Given the description of an element on the screen output the (x, y) to click on. 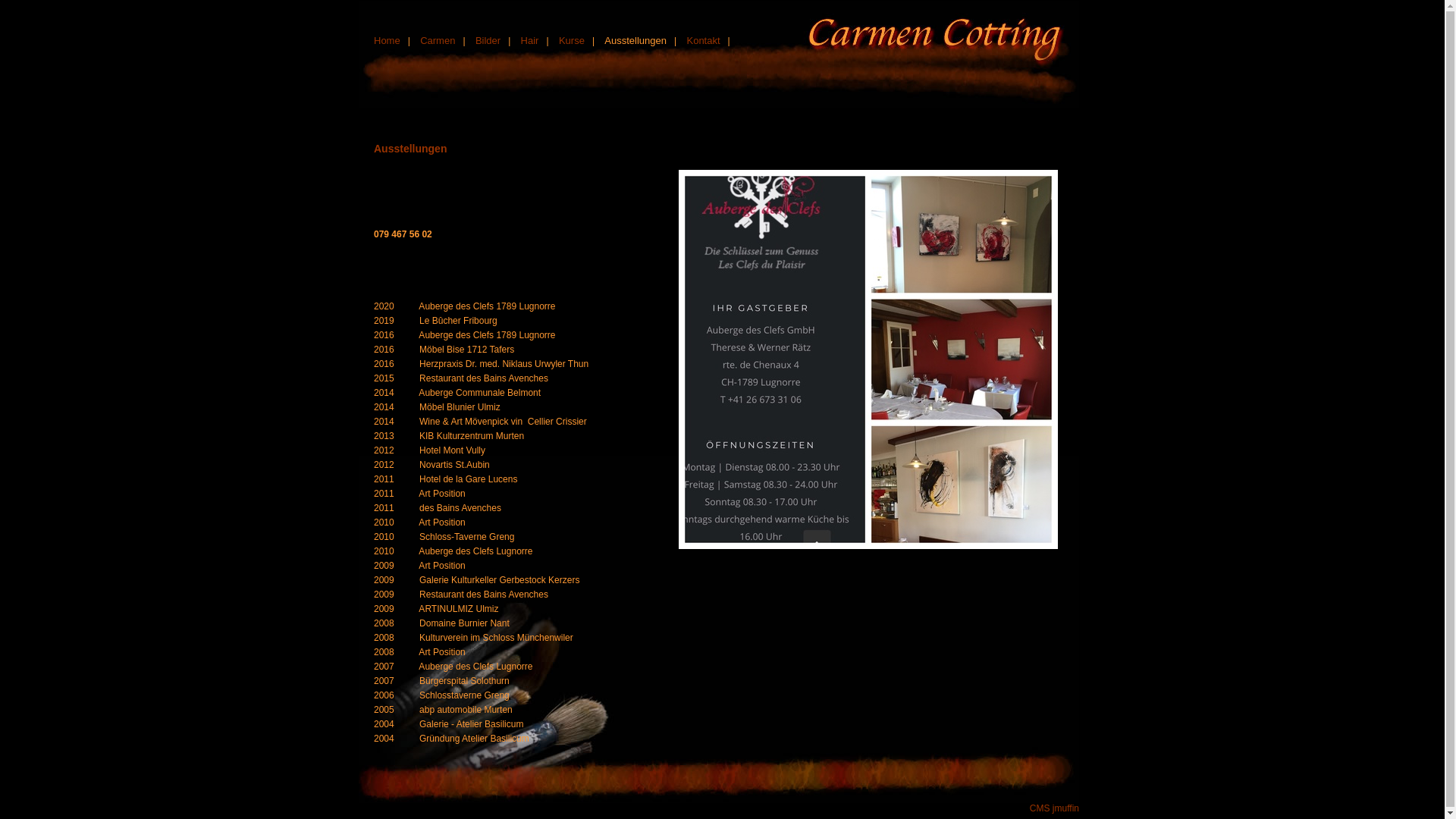
Home Element type: text (386, 40)
CMS jmuffin Element type: text (1054, 808)
Ausstellungen Element type: text (635, 40)
Kontakt Element type: text (702, 40)
Kurse Element type: text (571, 40)
Hair Element type: text (529, 40)
Carmen Element type: text (437, 40)
Bilder Element type: text (487, 40)
